Given the description of an element on the screen output the (x, y) to click on. 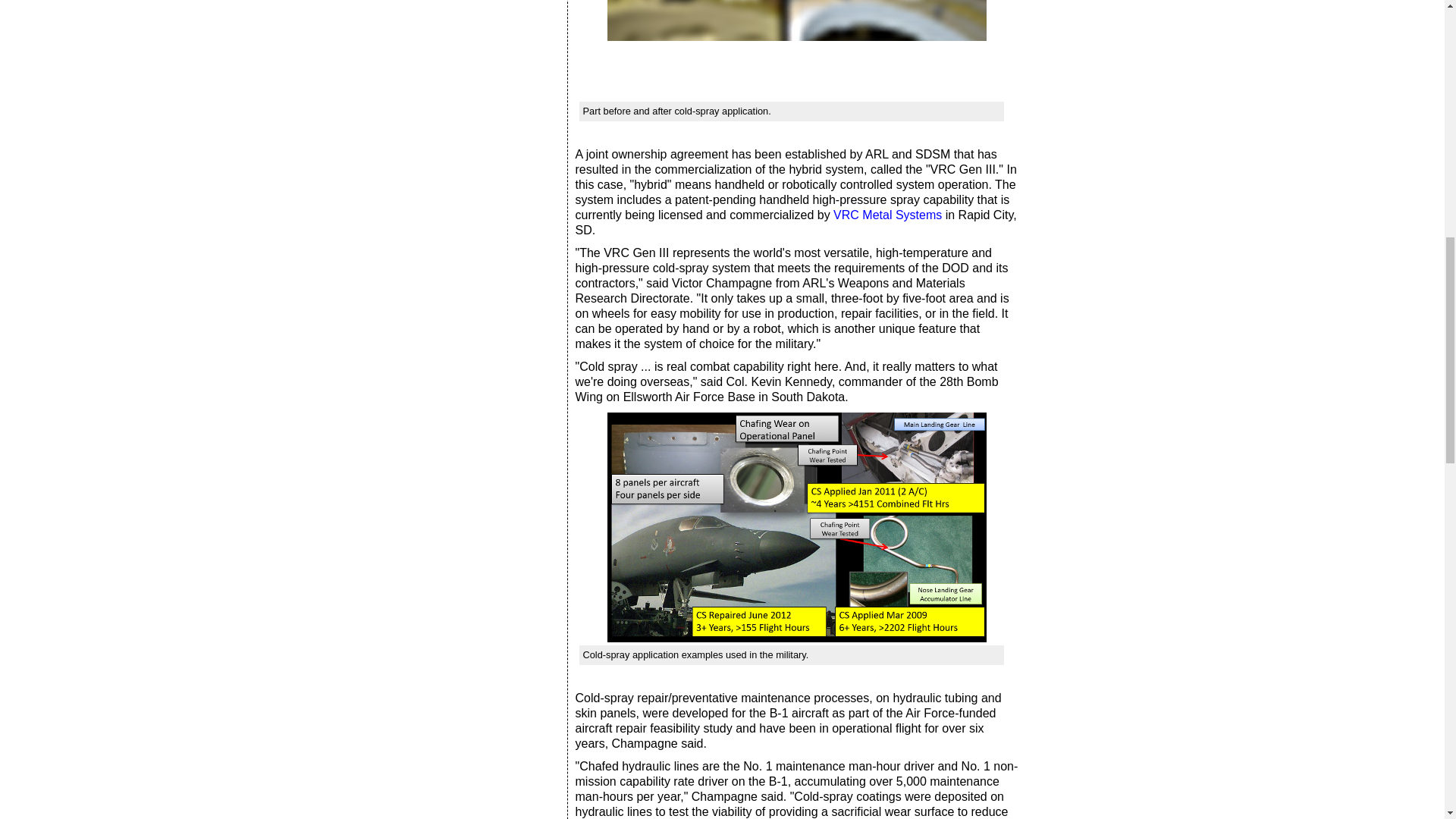
VRC Metal Systems (887, 214)
